Given the description of an element on the screen output the (x, y) to click on. 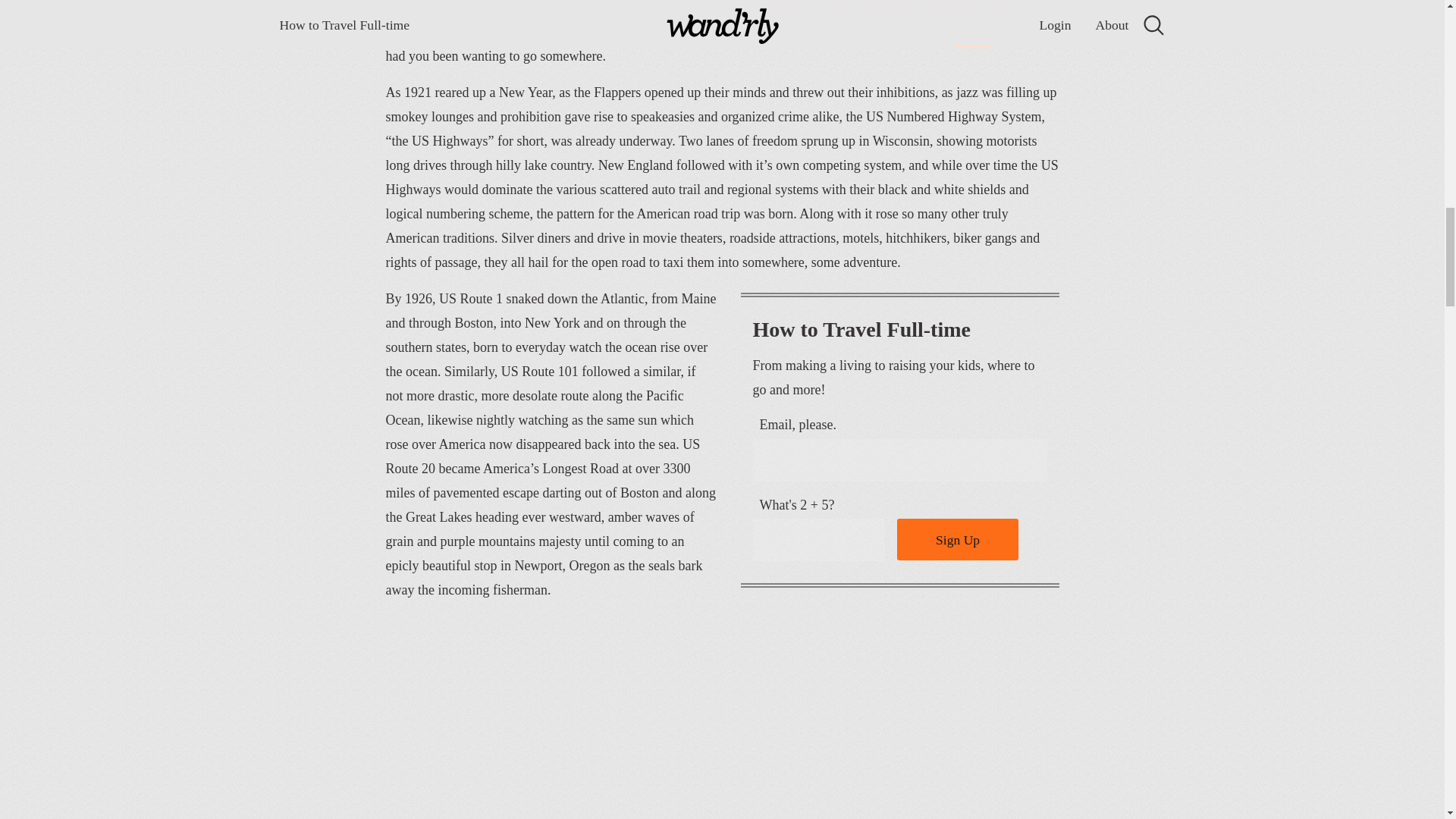
Sign Up (956, 539)
Sign Up (956, 539)
via. (973, 32)
old-car (721, 727)
